Given the description of an element on the screen output the (x, y) to click on. 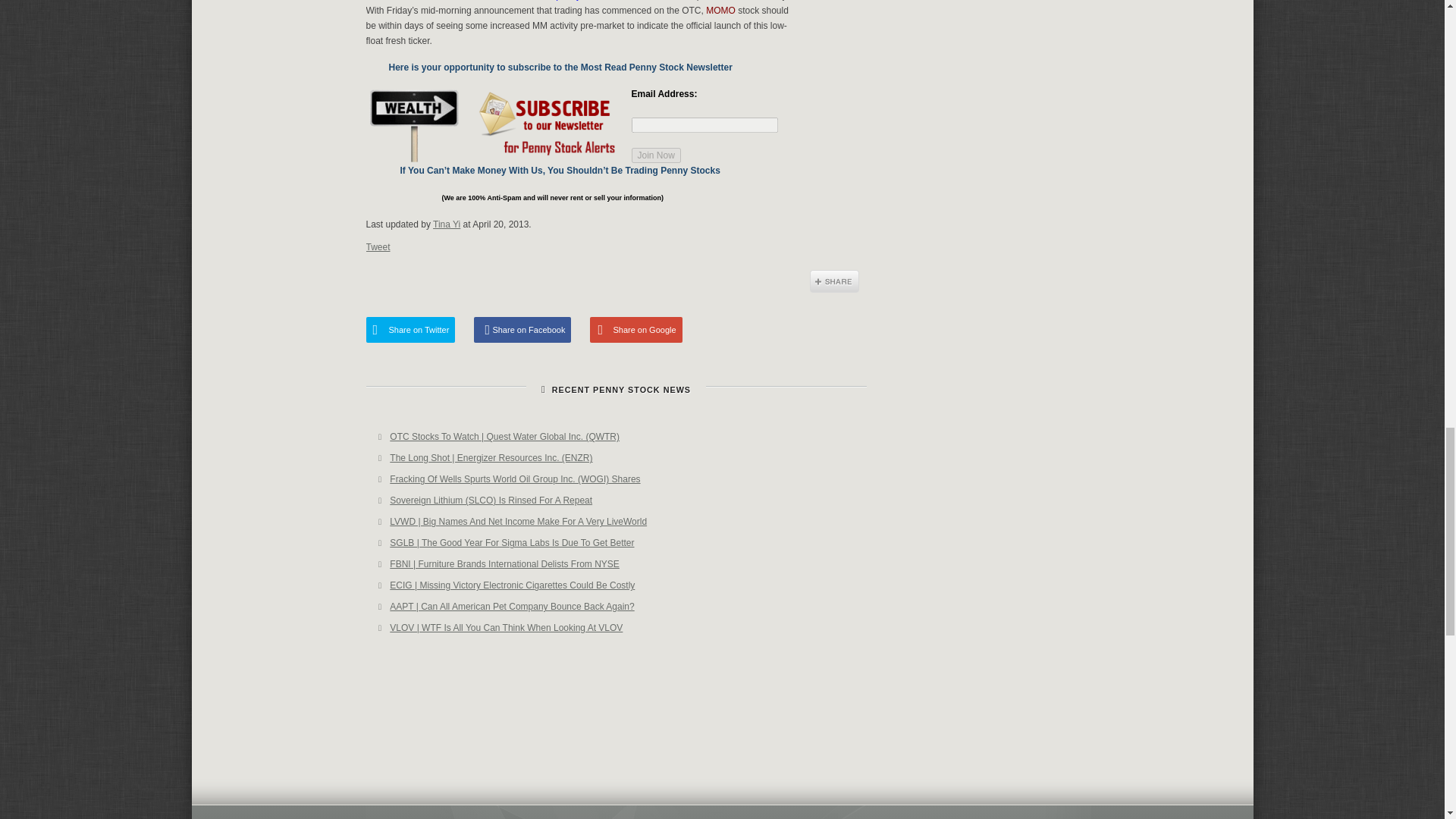
Share on Facebook (522, 329)
Share on Twitter (409, 329)
penny stocks (582, 0)
Join Now (654, 155)
Join Now (654, 155)
Share on Google (635, 329)
Tina Yi (446, 224)
Tweet (377, 246)
Share (834, 281)
